Given the description of an element on the screen output the (x, y) to click on. 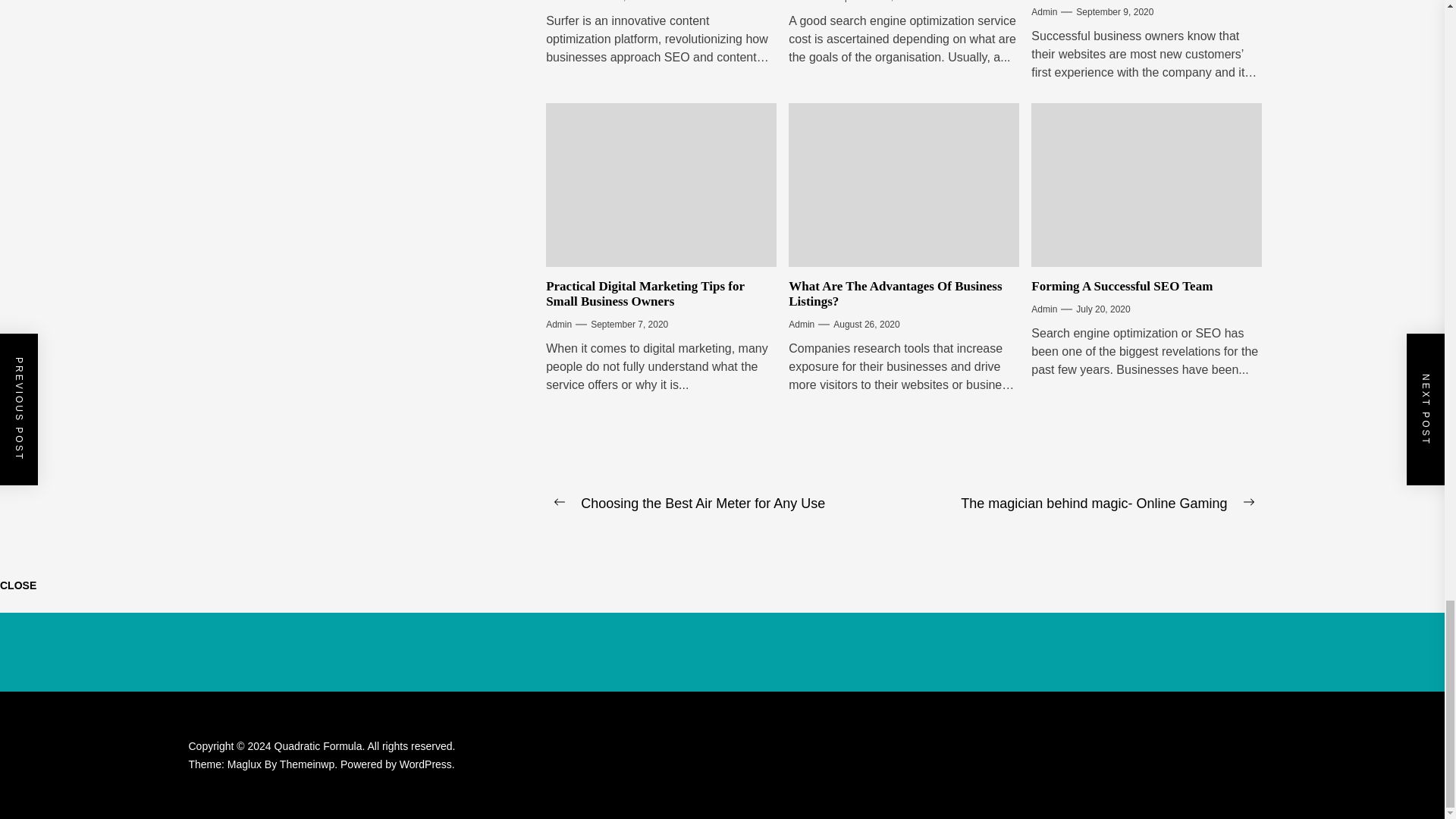
Themeinwp (309, 764)
June 26, 2023 (619, 2)
Admin (559, 2)
WordPress (426, 764)
Quadratic Formula (321, 746)
Admin (801, 2)
